Given the description of an element on the screen output the (x, y) to click on. 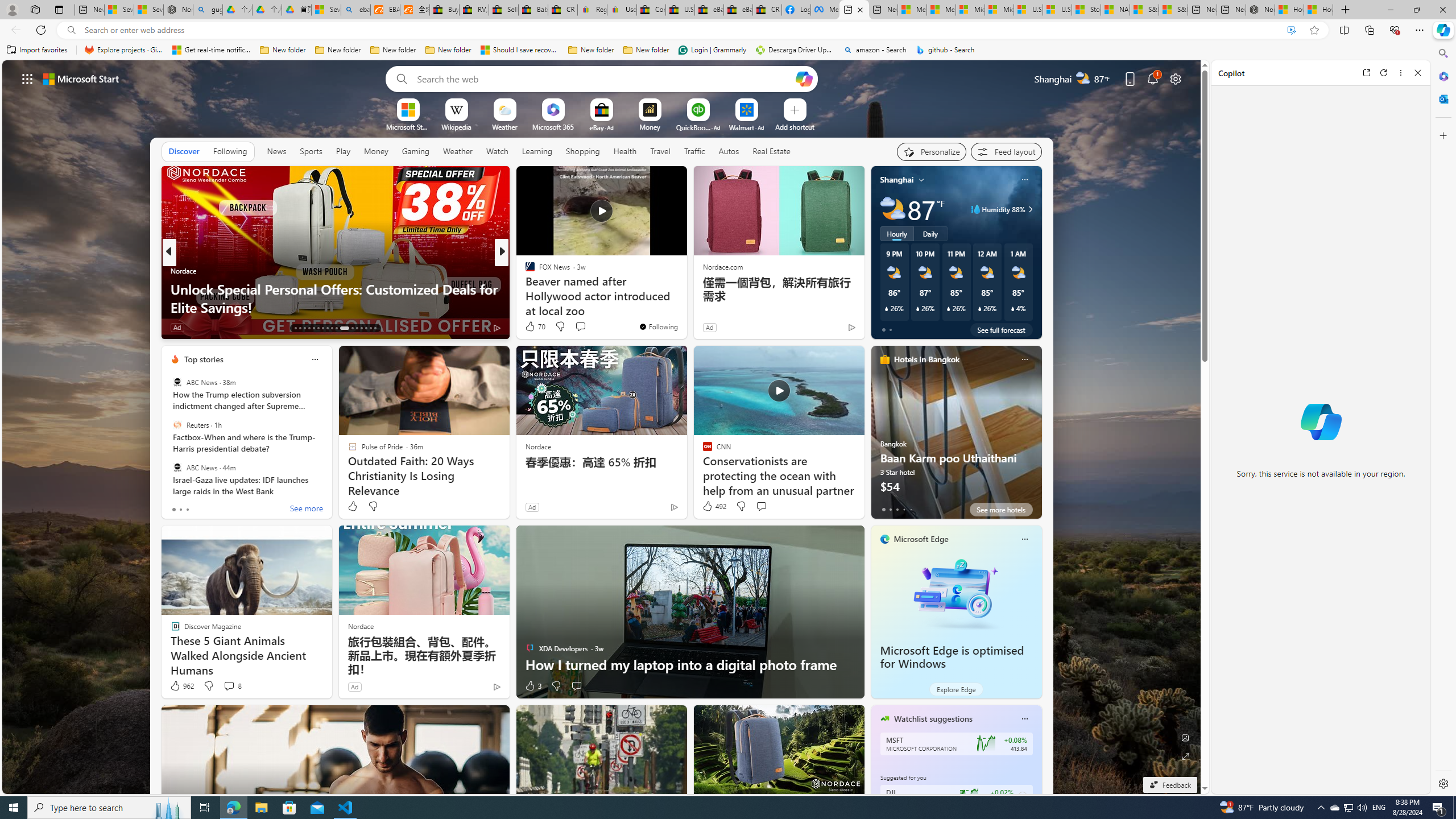
To get missing image descriptions, open the context menu. (407, 109)
Health (624, 151)
View comments 8 Comment (228, 685)
U.S. State Privacy Disclosures - eBay Inc. (679, 9)
962 Like (181, 685)
Travel (660, 151)
Import favorites (36, 49)
Watchlist suggestions (932, 718)
Collections (1369, 29)
Class: weather-arrow-glyph (1029, 208)
Humidity 88% (1028, 208)
Microsoft Start Sports (407, 126)
World Map Quiz: Can You Name These 20 Countries? (684, 307)
